Given the description of an element on the screen output the (x, y) to click on. 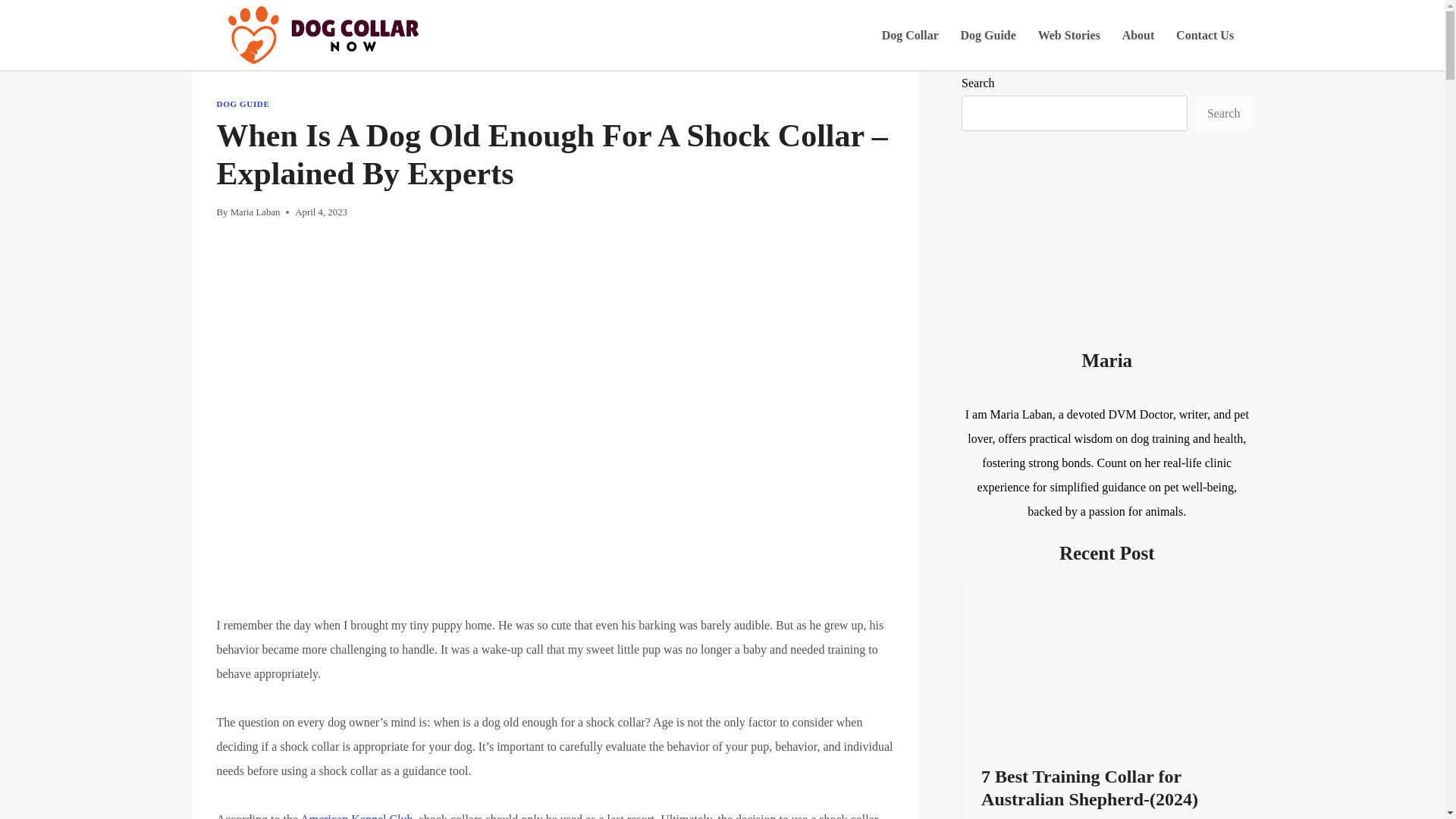
Dog Guide (987, 34)
Contact Us (1205, 34)
Web Stories (1068, 34)
DOG GUIDE (242, 103)
About (1137, 34)
Dog Collar (909, 34)
Maria Laban (255, 212)
American Kennel Club (355, 816)
